Given the description of an element on the screen output the (x, y) to click on. 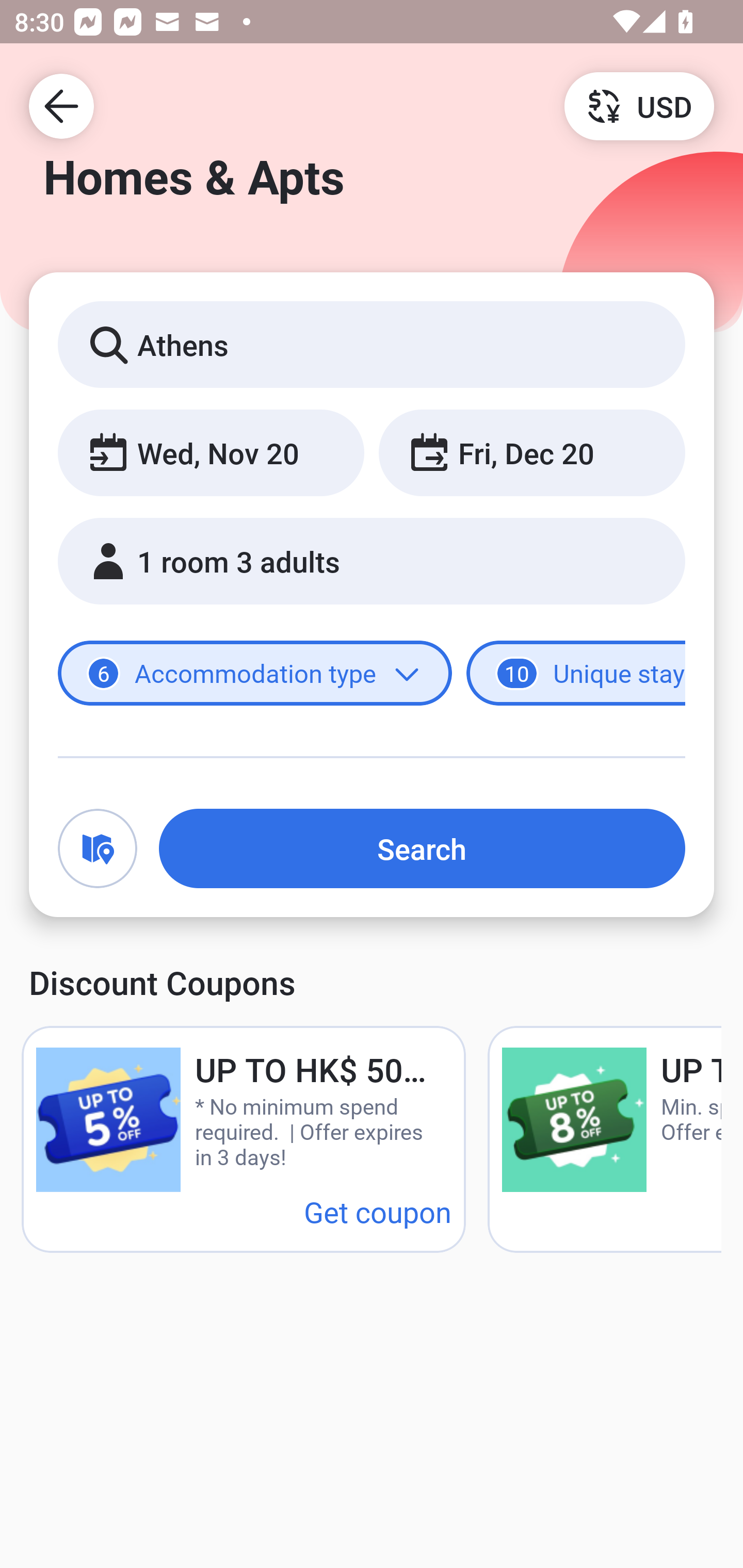
USD (639, 105)
Athens (371, 344)
Wed, Nov 20 (210, 452)
Fri, Dec 20 (531, 452)
1 room 3 adults (371, 561)
6 Accommodation type (254, 673)
10 Unique stays (575, 673)
Search (422, 848)
Get coupon (377, 1211)
